Given the description of an element on the screen output the (x, y) to click on. 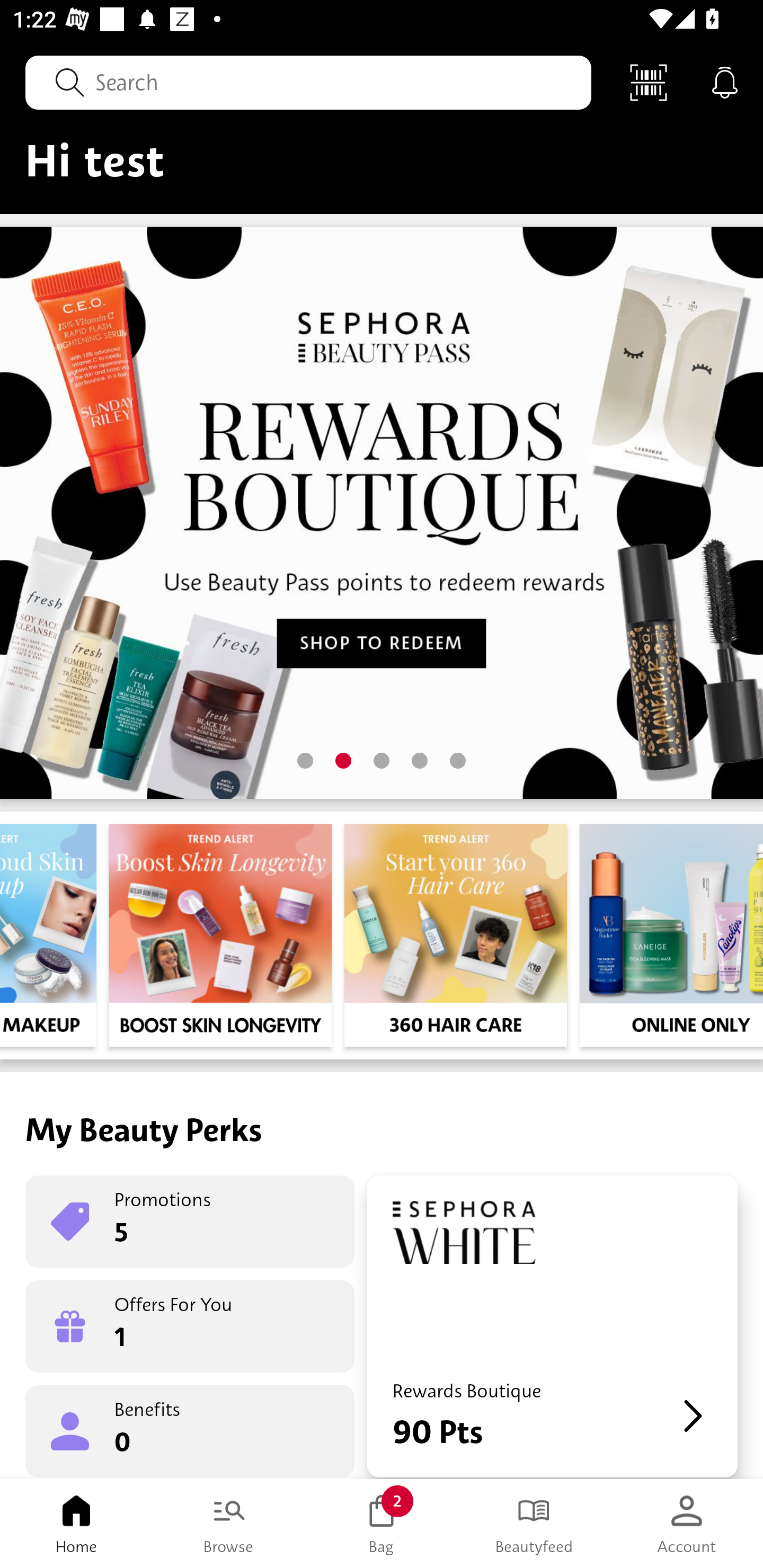
Scan Code (648, 81)
Notifications (724, 81)
Search (308, 81)
Promotions 5 (189, 1221)
Rewards Boutique 90 Pts (552, 1326)
Offers For You 1 (189, 1326)
Benefits 0 (189, 1430)
Browse (228, 1523)
Bag 2 Bag (381, 1523)
Beautyfeed (533, 1523)
Account (686, 1523)
